Given the description of an element on the screen output the (x, y) to click on. 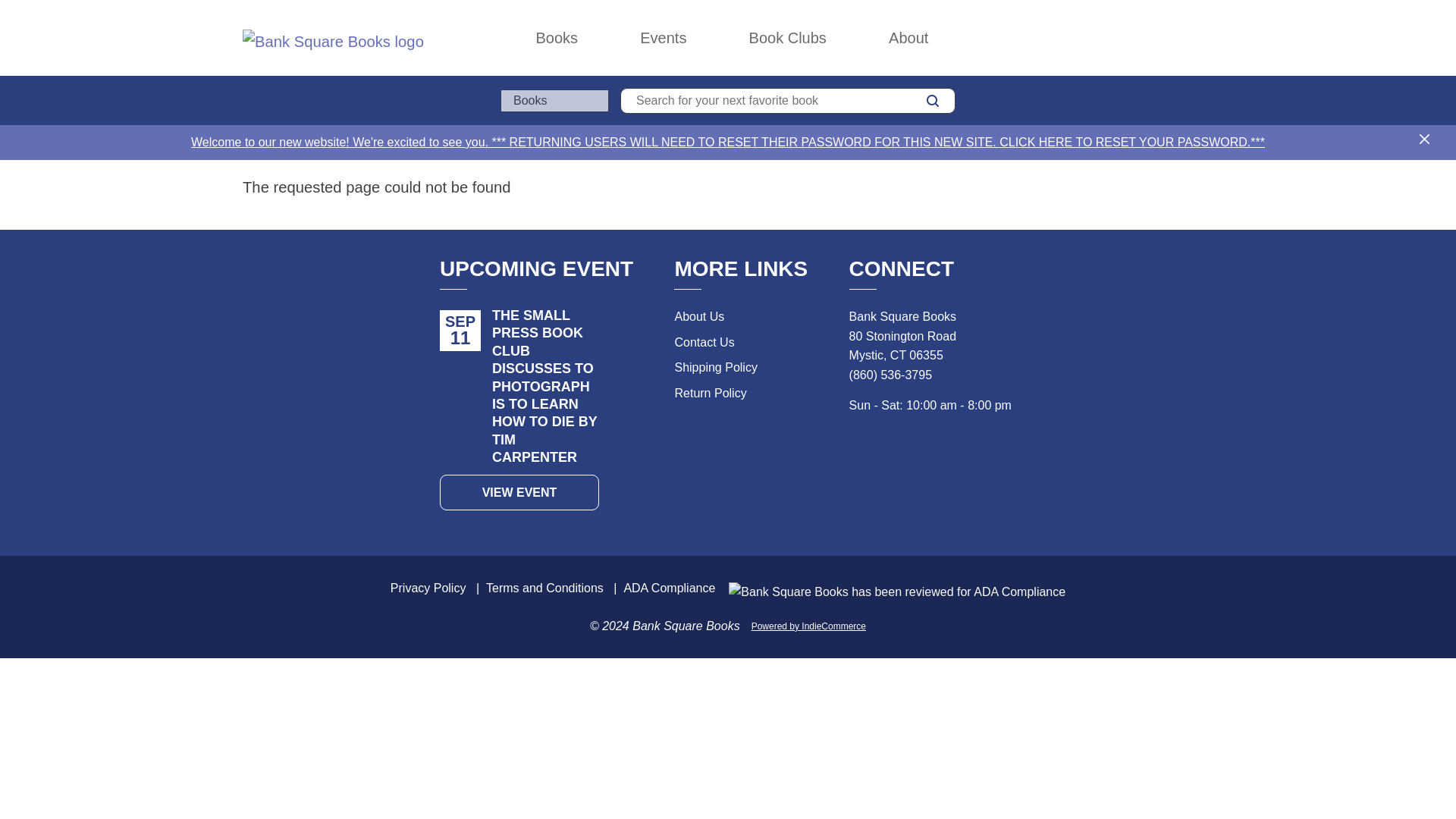
Wishlists (1172, 37)
Connect with Instagram (924, 448)
SEARCH (932, 100)
Shipping Policy (715, 367)
Connect with X (857, 448)
Wishlist (1172, 37)
Log in (1139, 37)
Cart (1206, 37)
Books (556, 38)
